Given the description of an element on the screen output the (x, y) to click on. 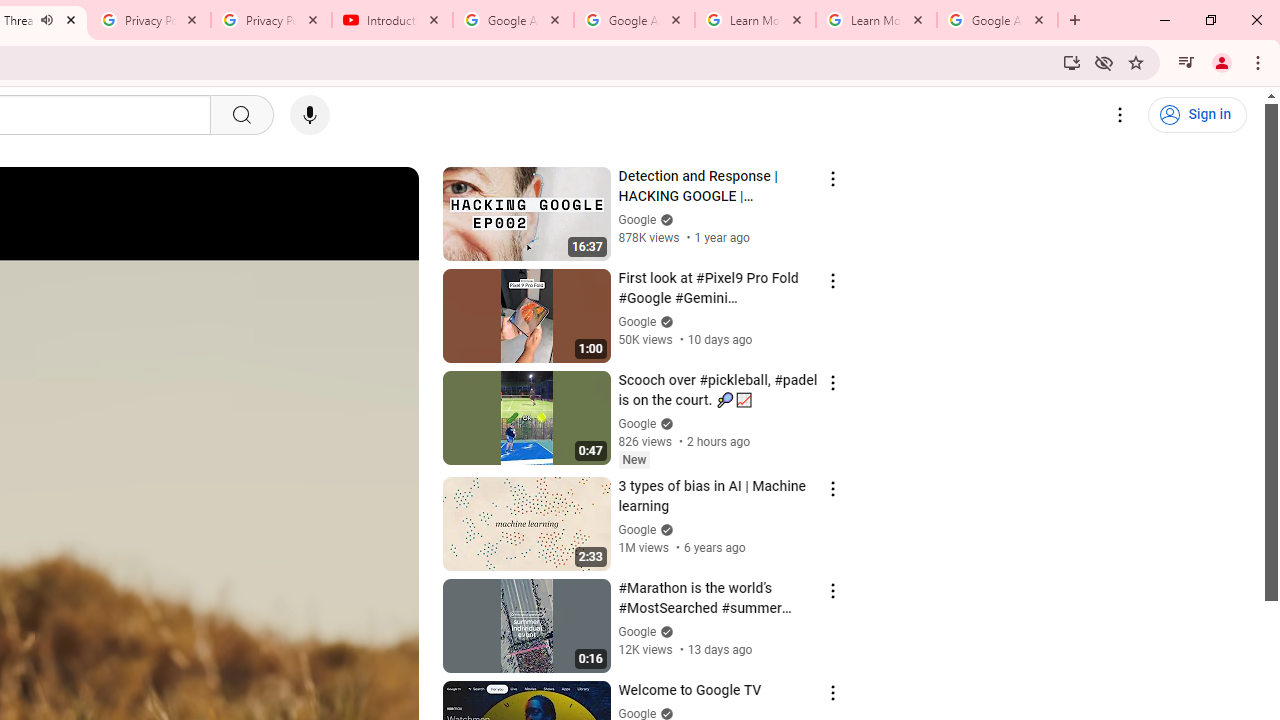
Google Account Help (513, 20)
Google Account (997, 20)
Google Account Help (634, 20)
Introduction | Google Privacy Policy - YouTube (392, 20)
New (634, 459)
